Given the description of an element on the screen output the (x, y) to click on. 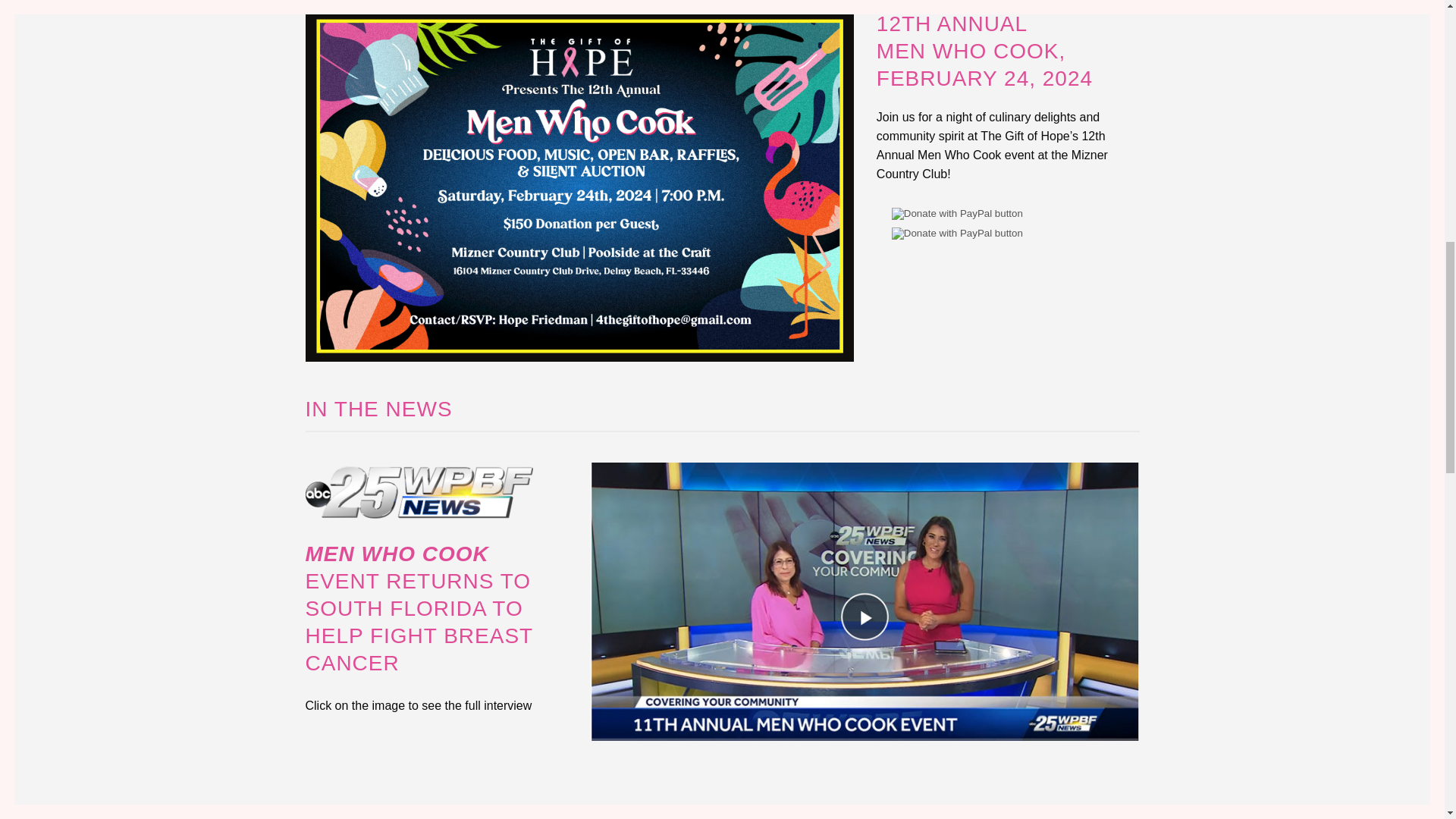
PayPal - The safer, easier way to pay online! (984, 51)
PayPal - The safer, easier way to pay online! (957, 233)
